Given the description of an element on the screen output the (x, y) to click on. 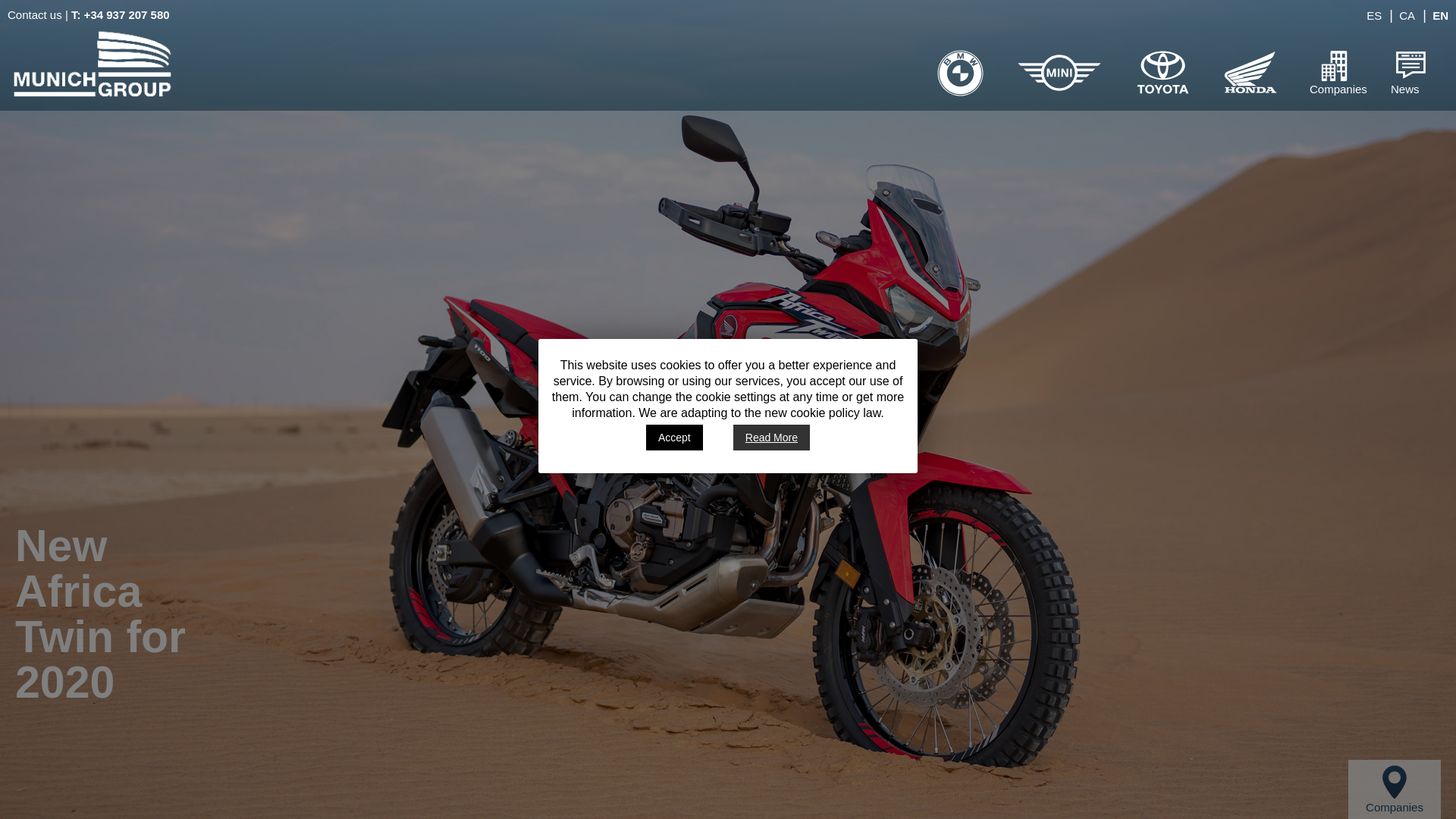
Companies (1394, 789)
Contact us (34, 14)
mini (1058, 86)
EN (1438, 15)
News (1411, 64)
 EN (1438, 15)
ES (1371, 15)
 ES (1371, 15)
CA (1405, 15)
 CA (1405, 15)
